Given the description of an element on the screen output the (x, y) to click on. 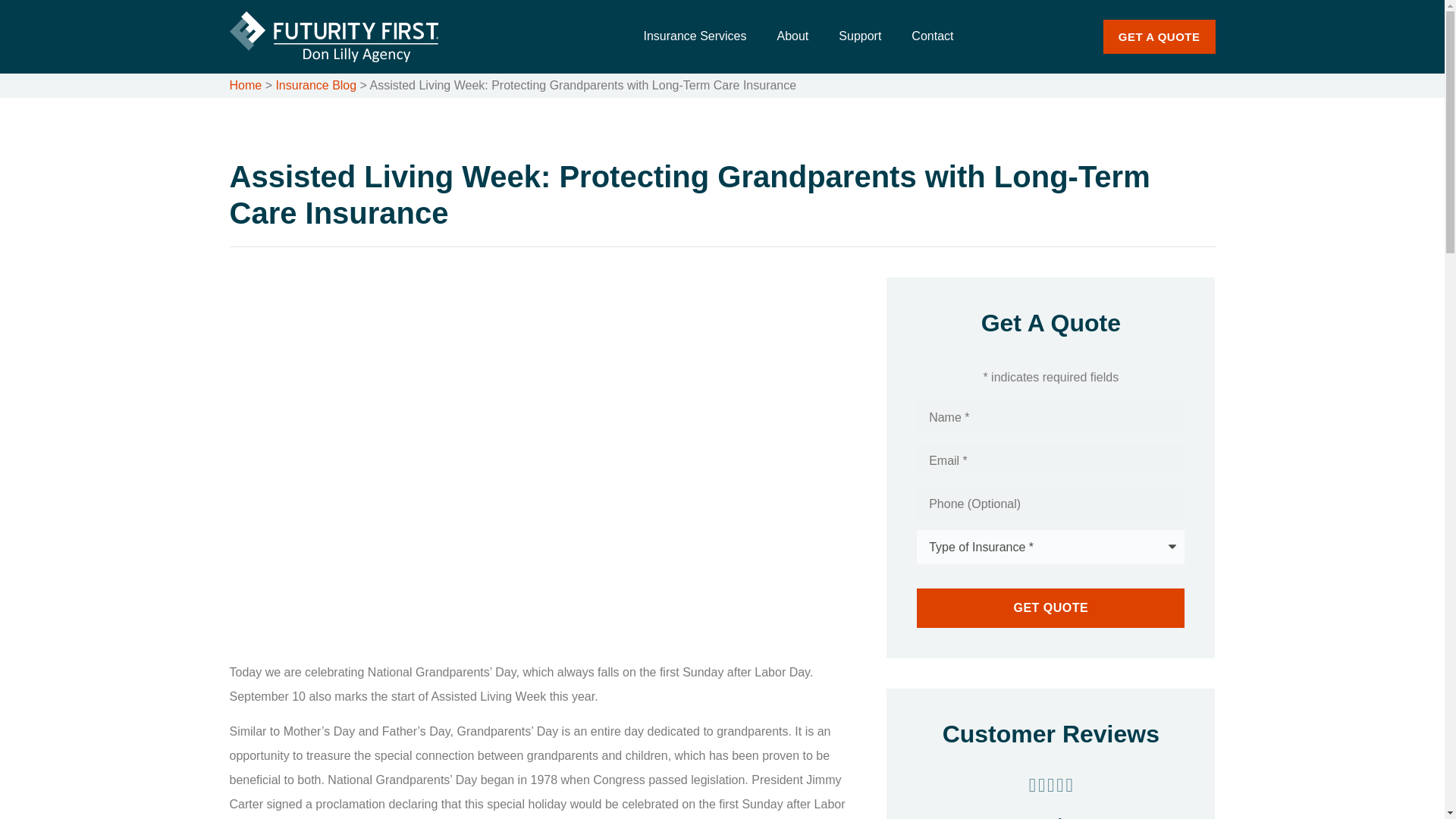
Don-Lilly-Agency-logo-white (333, 36)
Insurance Services (694, 36)
About (792, 36)
Get Quote (1051, 608)
